Given the description of an element on the screen output the (x, y) to click on. 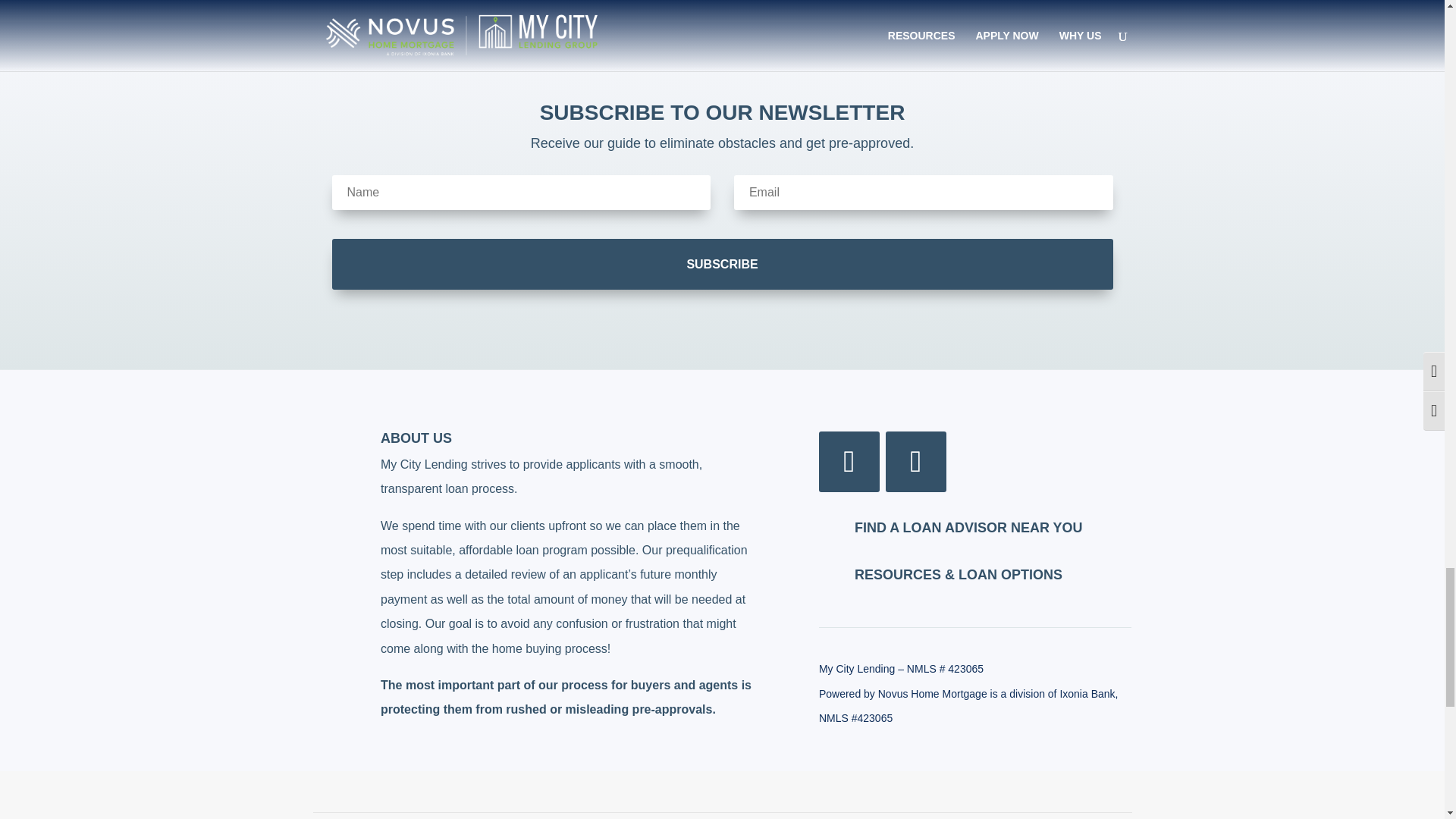
SUBSCRIBE (722, 264)
ABOUT US (415, 437)
FIND A LOAN ADVISOR NEAR YOU (968, 527)
